Given the description of an element on the screen output the (x, y) to click on. 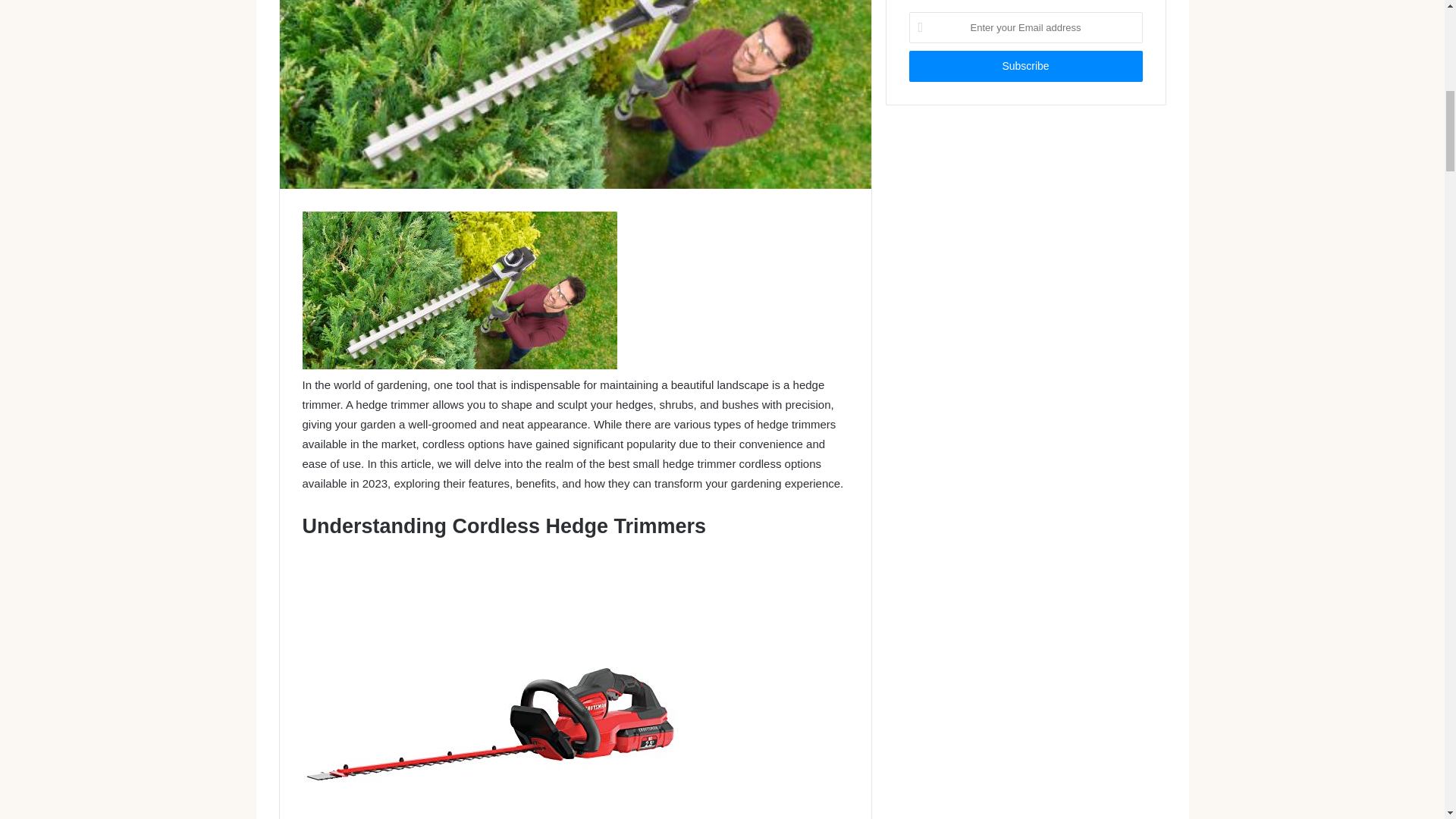
Subscribe (1025, 65)
